Given the description of an element on the screen output the (x, y) to click on. 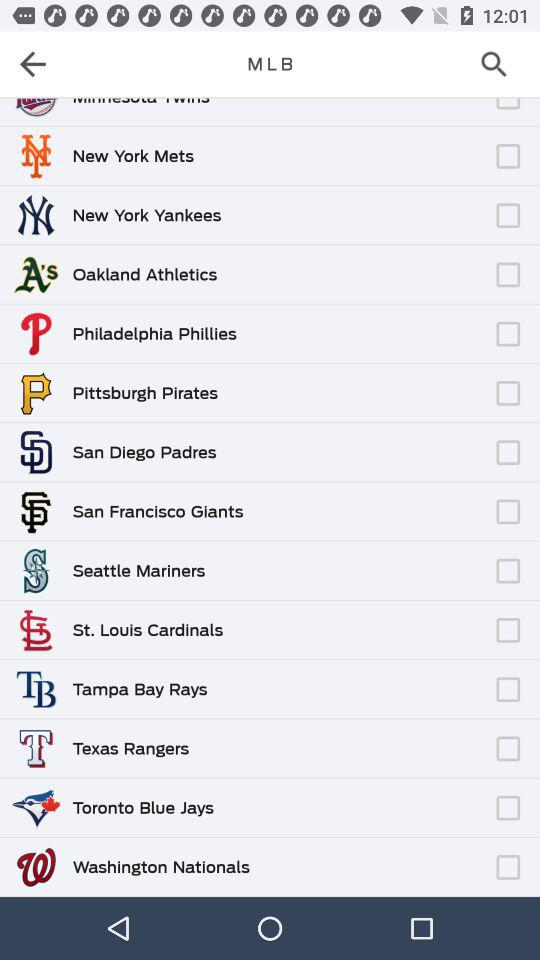
click item next to the seattle mariners item (347, 561)
